Given the description of an element on the screen output the (x, y) to click on. 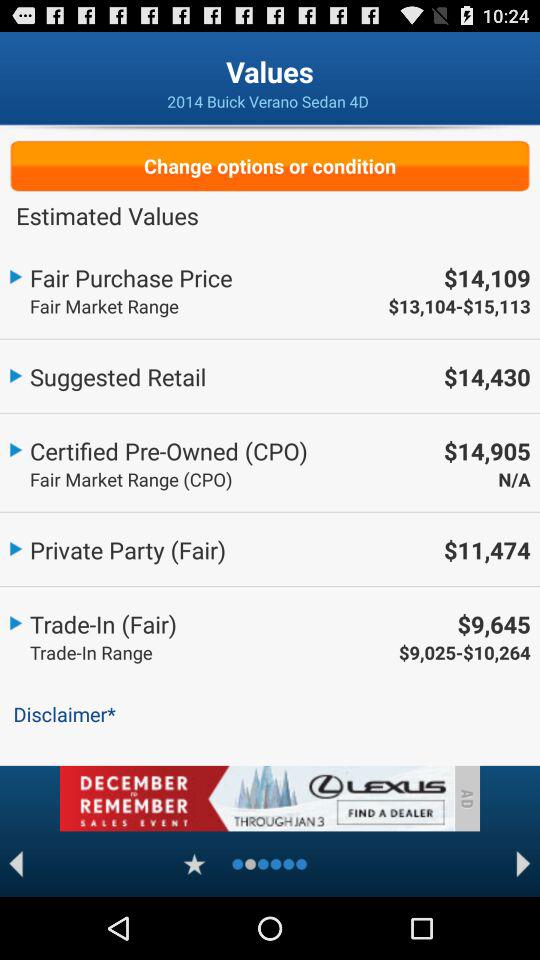
click the arrow left to suggested retail (16, 373)
click on icon which is left of tradein fair (16, 620)
